Given the description of an element on the screen output the (x, y) to click on. 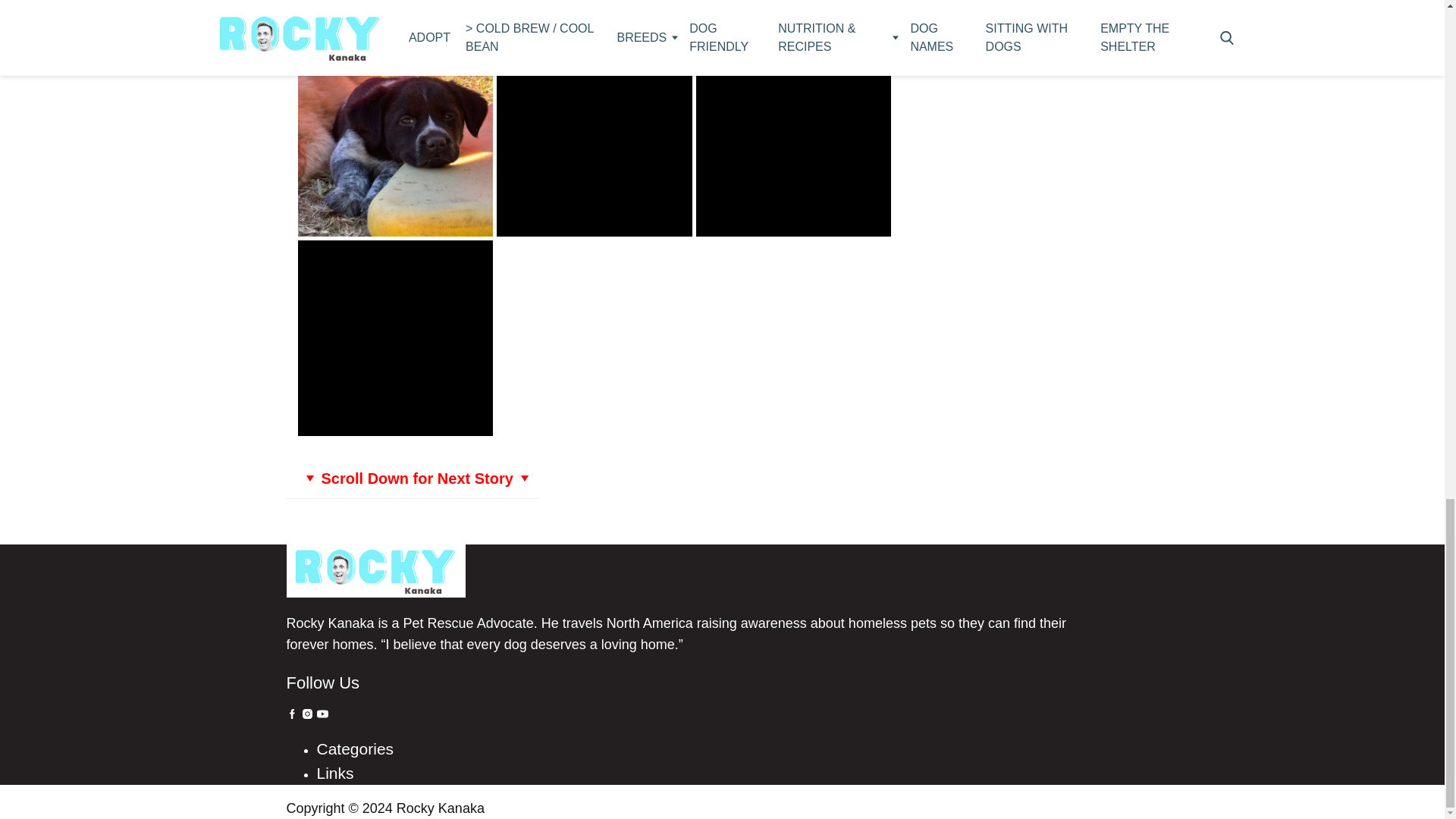
Facebook (292, 714)
Youtube (323, 714)
Instagram (307, 714)
Scroll Down for Next Story (413, 478)
